Given the description of an element on the screen output the (x, y) to click on. 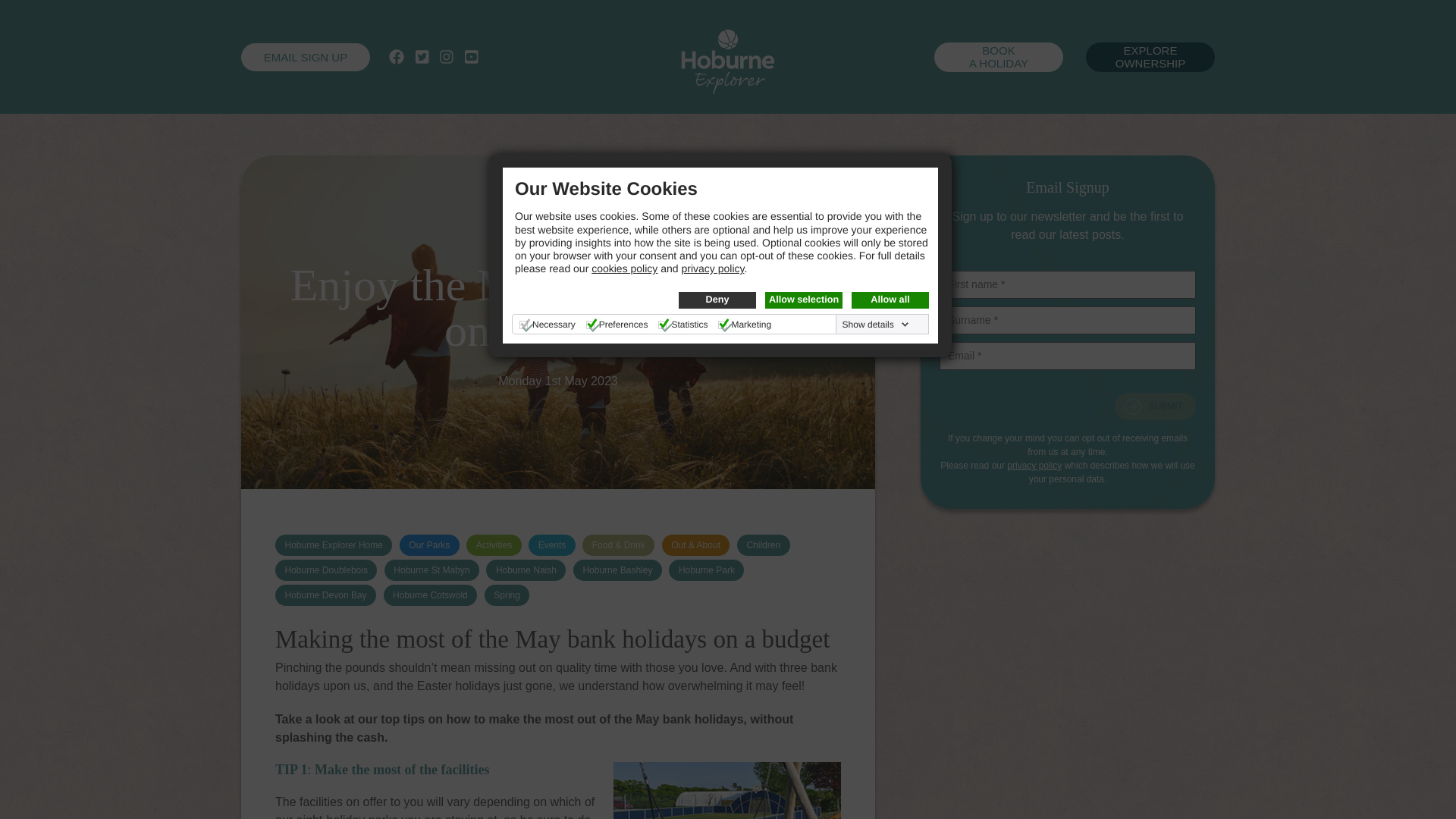
cookies policy (624, 268)
Show details (876, 324)
Allow selection (804, 299)
privacy policy (712, 268)
Deny (716, 299)
Submit (1155, 406)
Allow all (889, 299)
